Given the description of an element on the screen output the (x, y) to click on. 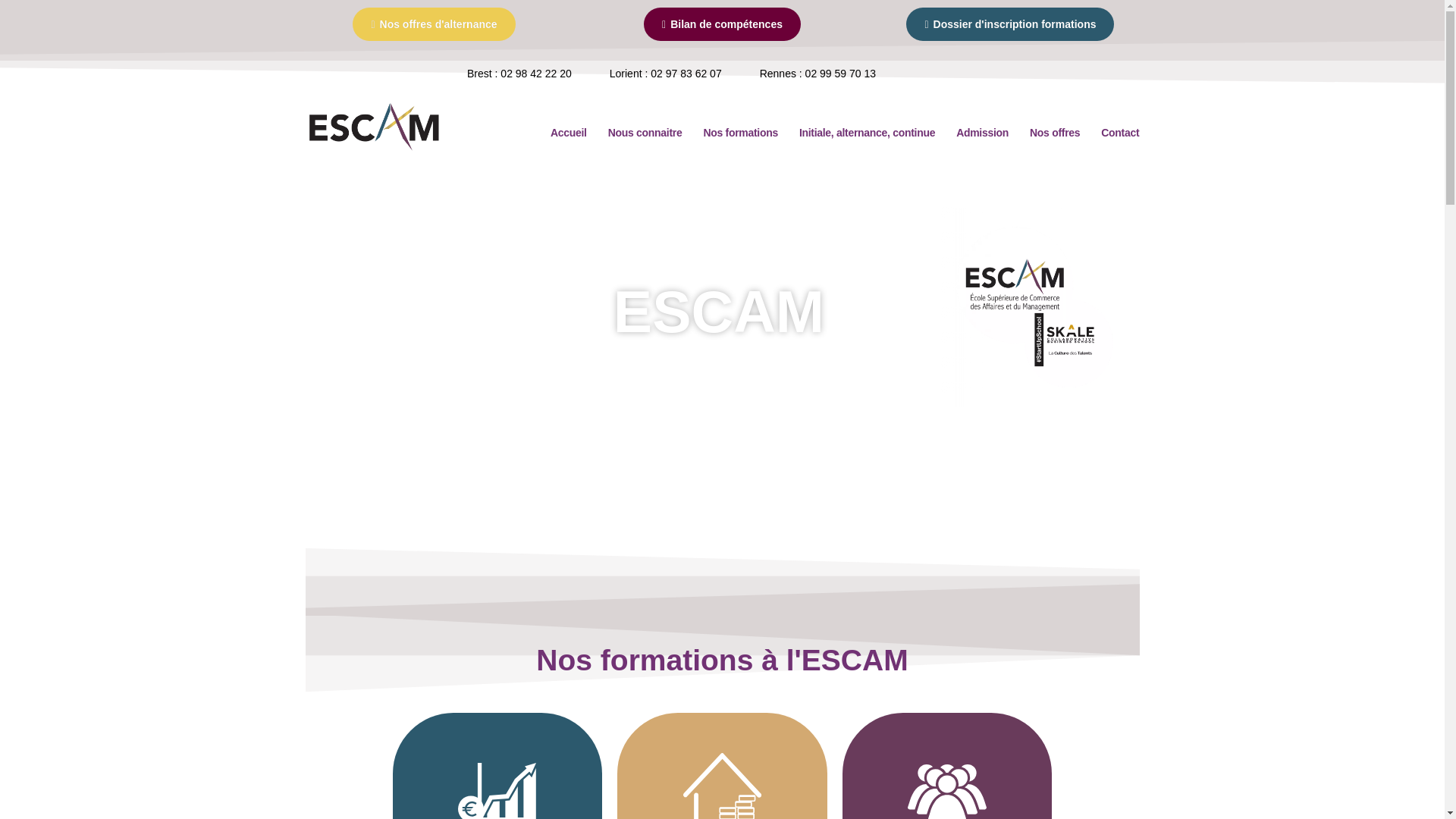
Admission Element type: text (982, 132)
Contact Element type: text (1120, 132)
Accueil Element type: text (568, 132)
Nos offres d'alternance Element type: text (433, 23)
Initiale, alternance, continue Element type: text (867, 132)
Nos offres Element type: text (1054, 132)
Nos formations Element type: text (739, 132)
Lorient : 02 97 83 62 07 Element type: text (665, 73)
Brest : 02 98 42 22 20 Element type: text (519, 73)
Dossier d'inscription formations Element type: text (1009, 23)
Rennes : 02 99 59 70 13 Element type: text (817, 73)
Nous connaitre Element type: text (645, 132)
